Given the description of an element on the screen output the (x, y) to click on. 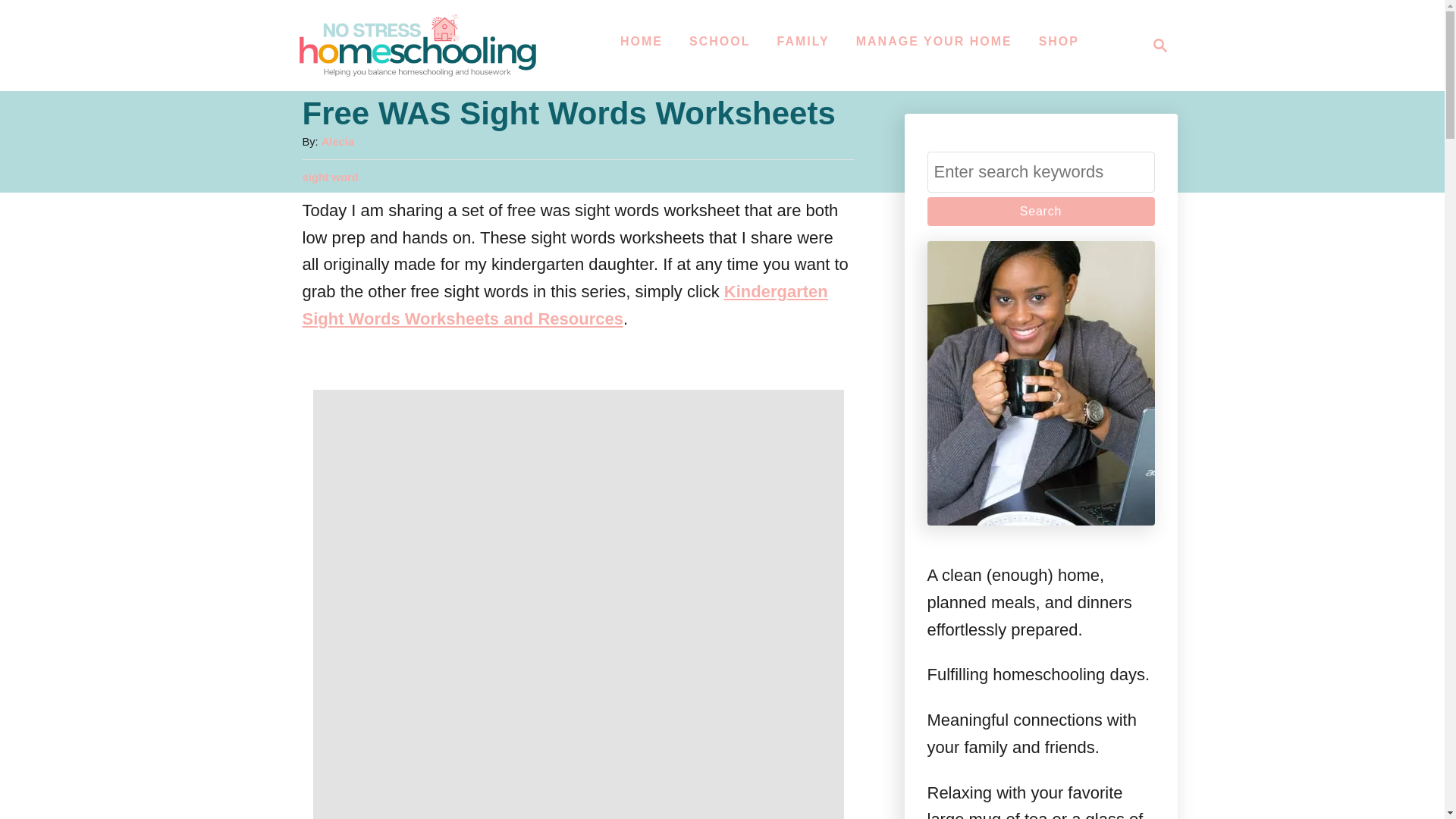
MANAGE YOUR HOME (934, 41)
HOME (640, 41)
Search for: (1040, 171)
Search (1040, 211)
SCHOOL (719, 41)
Search (1040, 211)
Magnifying Glass (1160, 45)
No Stress Homeschooling (416, 45)
FAMILY (1155, 45)
